Given the description of an element on the screen output the (x, y) to click on. 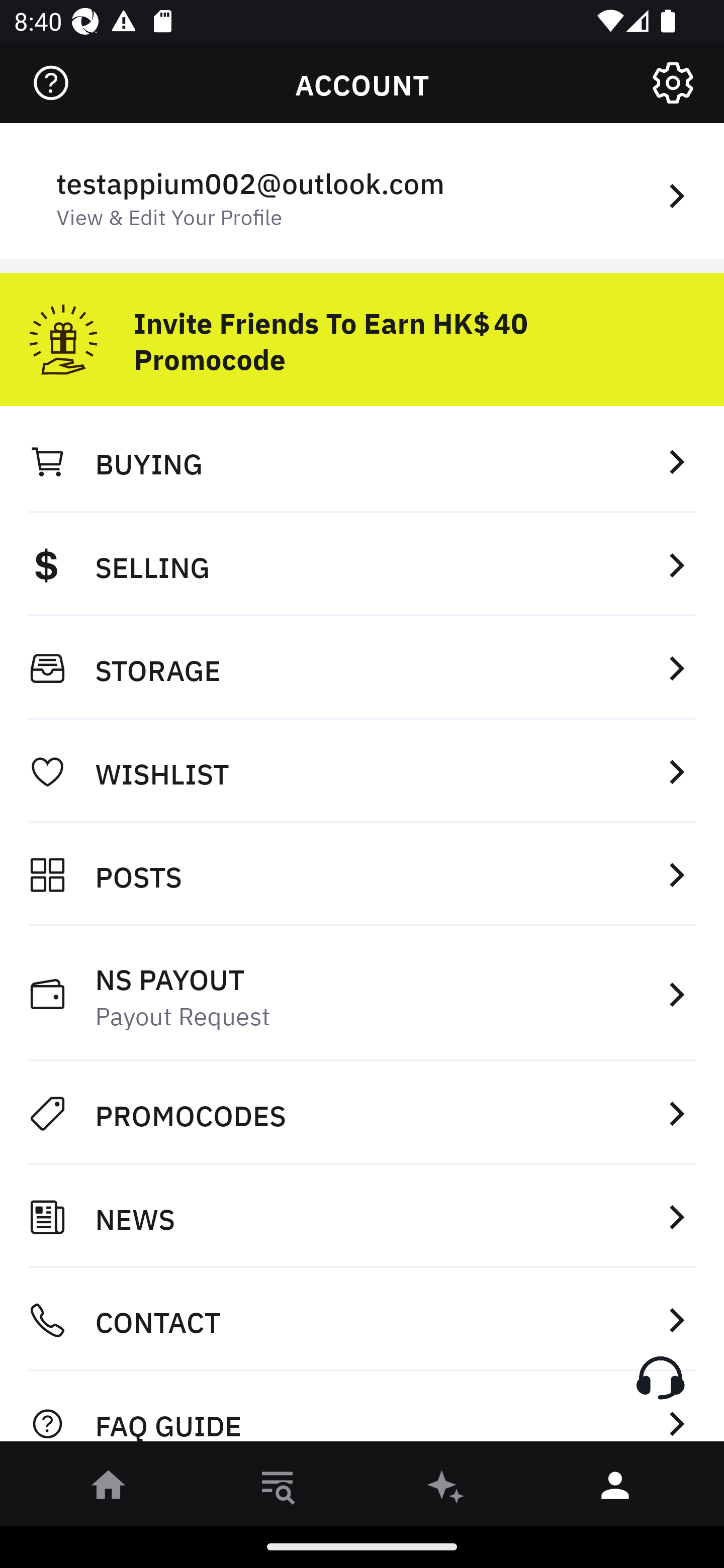
 (50, 83)
 (672, 83)
Invite Friends To Earn HK$ 40 Promocode (362, 332)
 BUYING  (361, 460)
 SELLING  (361, 564)
 STORAGE  (361, 667)
 WISHLIST  (361, 771)
 POSTS  (361, 874)
 0 NS PAYOUT Payout Request  (361, 993)
 PROMOCODES  (361, 1113)
 NEWS  (361, 1216)
 CONTACT  (361, 1320)
 FAQ GUIDE  (361, 1411)
󰋜 (108, 1488)
󱎸 (277, 1488)
󰫢 (446, 1488)
󰀄 (615, 1488)
